Given the description of an element on the screen output the (x, y) to click on. 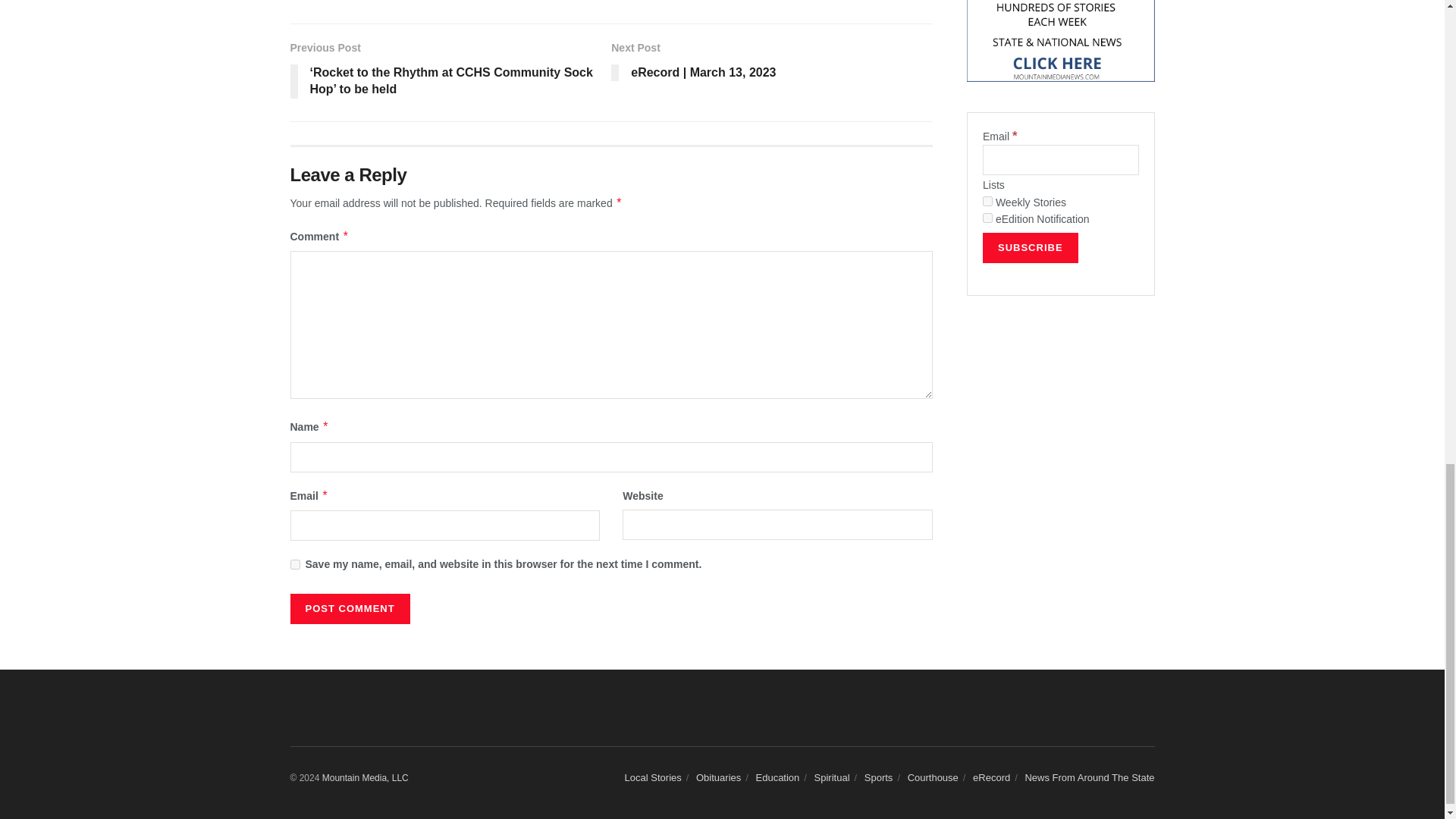
Post Comment (349, 608)
Subscribe (1030, 247)
1 (987, 201)
2 (987, 217)
Mountain Media, LLC (365, 777)
yes (294, 564)
